Given the description of an element on the screen output the (x, y) to click on. 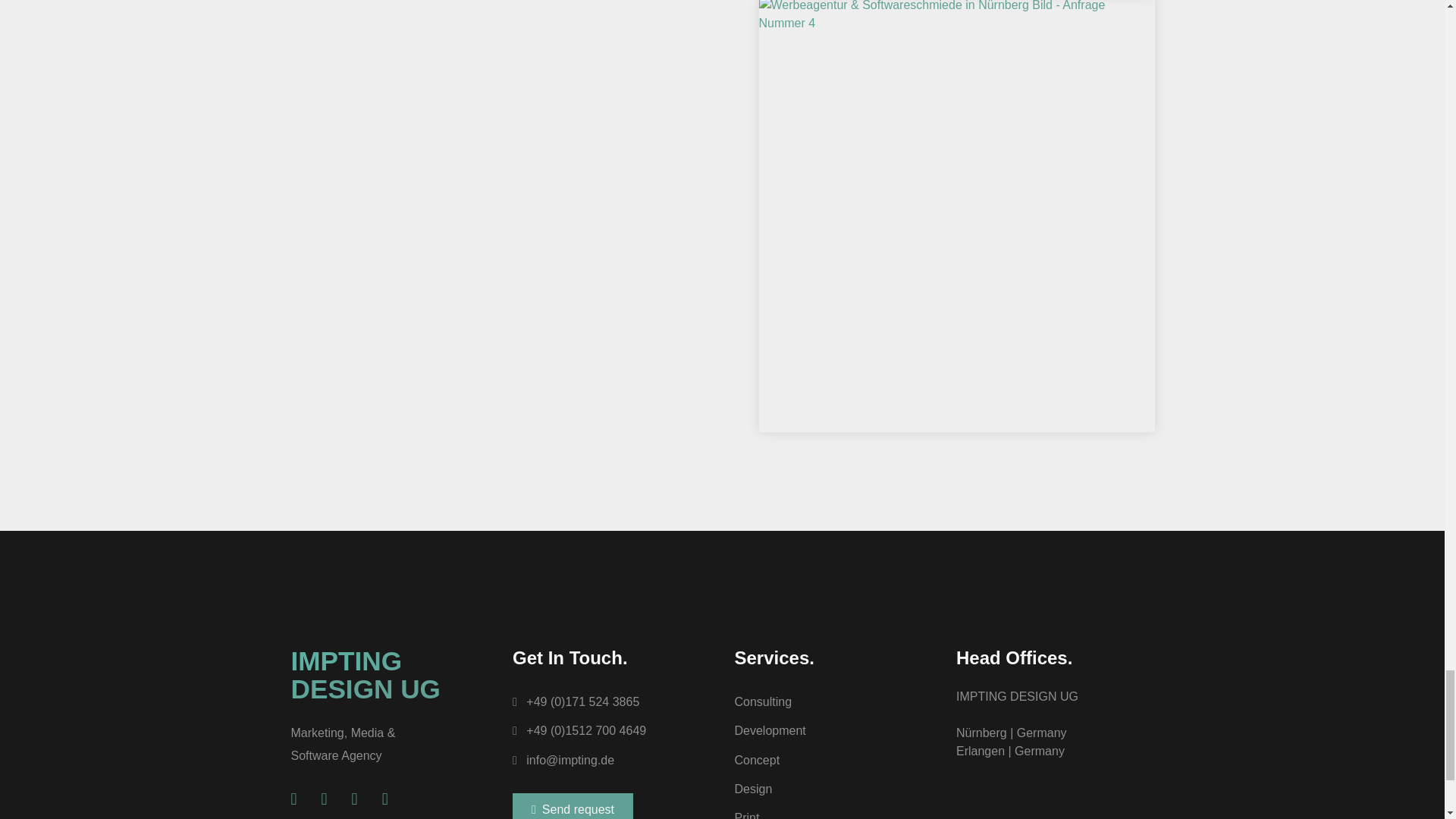
Development (832, 730)
Consulting (832, 701)
Concept (832, 760)
Send request (572, 806)
IMPTING DESIGN UG (366, 674)
